Given the description of an element on the screen output the (x, y) to click on. 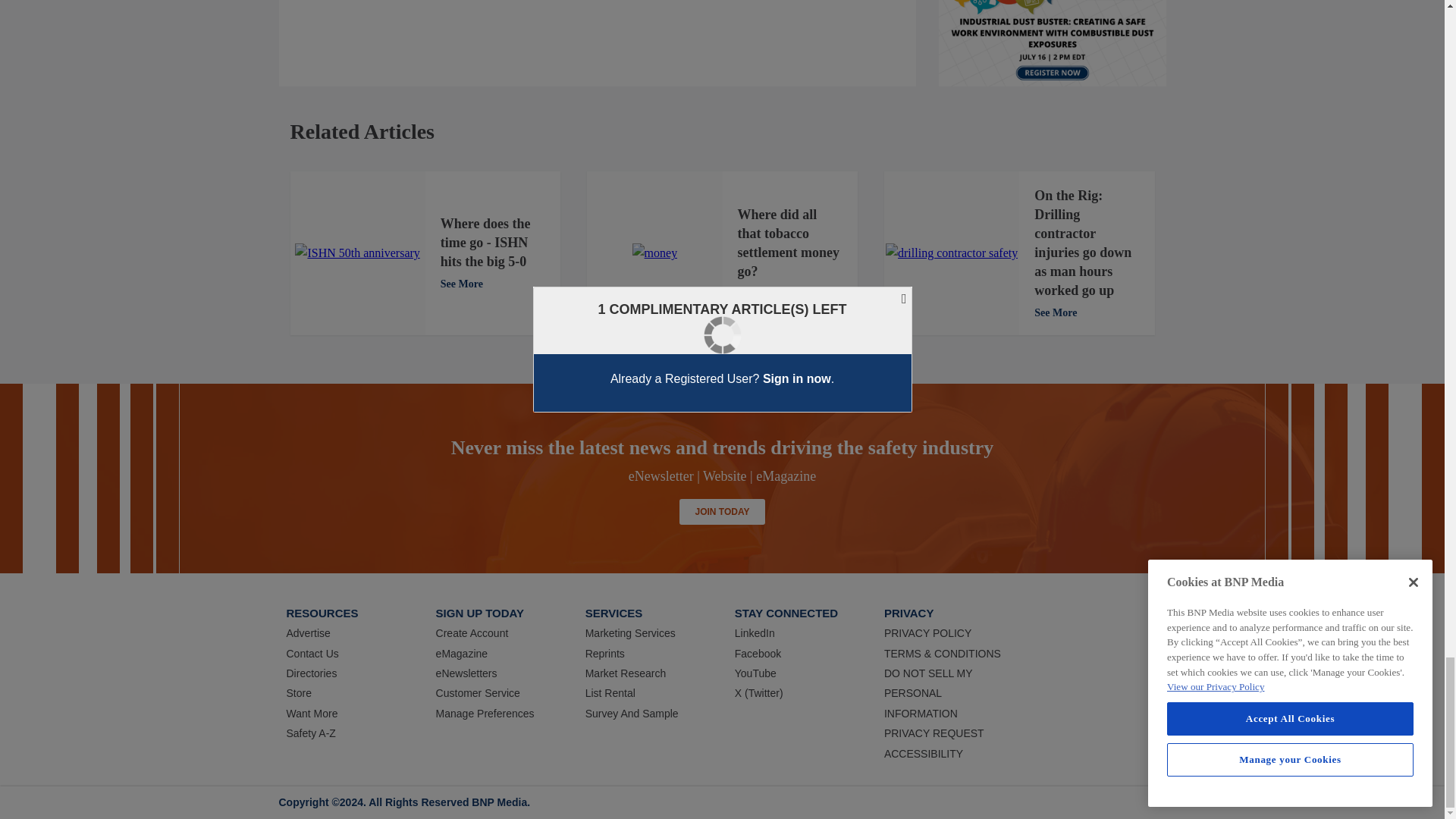
money-900.png (654, 252)
ISHN 50th anniversary (357, 252)
drilling contractor safety (951, 252)
